Given the description of an element on the screen output the (x, y) to click on. 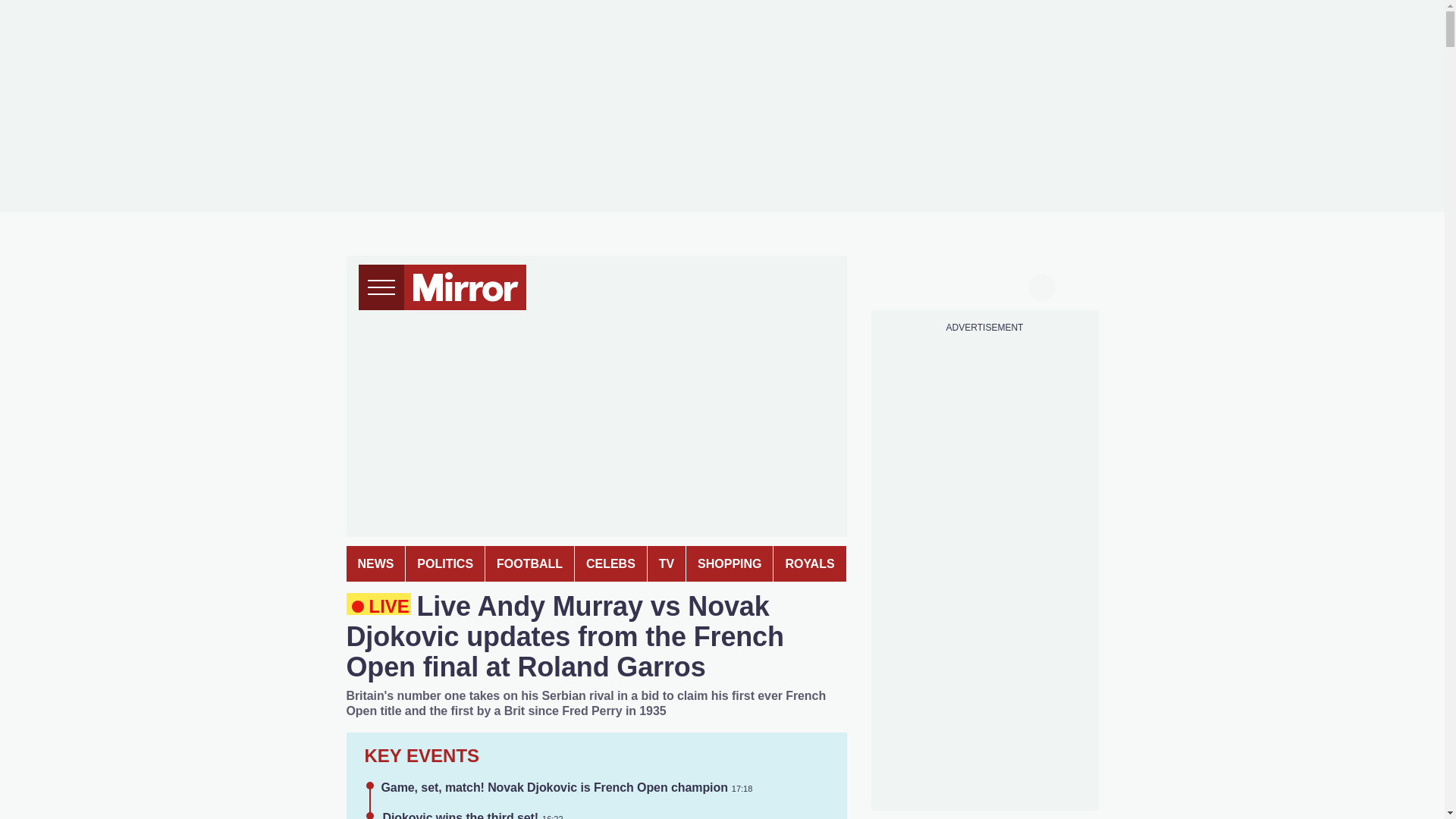
facebook (897, 284)
NEWS (375, 563)
snapchat (1012, 284)
SHOPPING (729, 563)
FOOTBALL (528, 563)
POLITICS (445, 563)
tiktok (955, 284)
Djokovic wins the third set! (459, 815)
TV (666, 563)
ROYALS (809, 563)
